Given the description of an element on the screen output the (x, y) to click on. 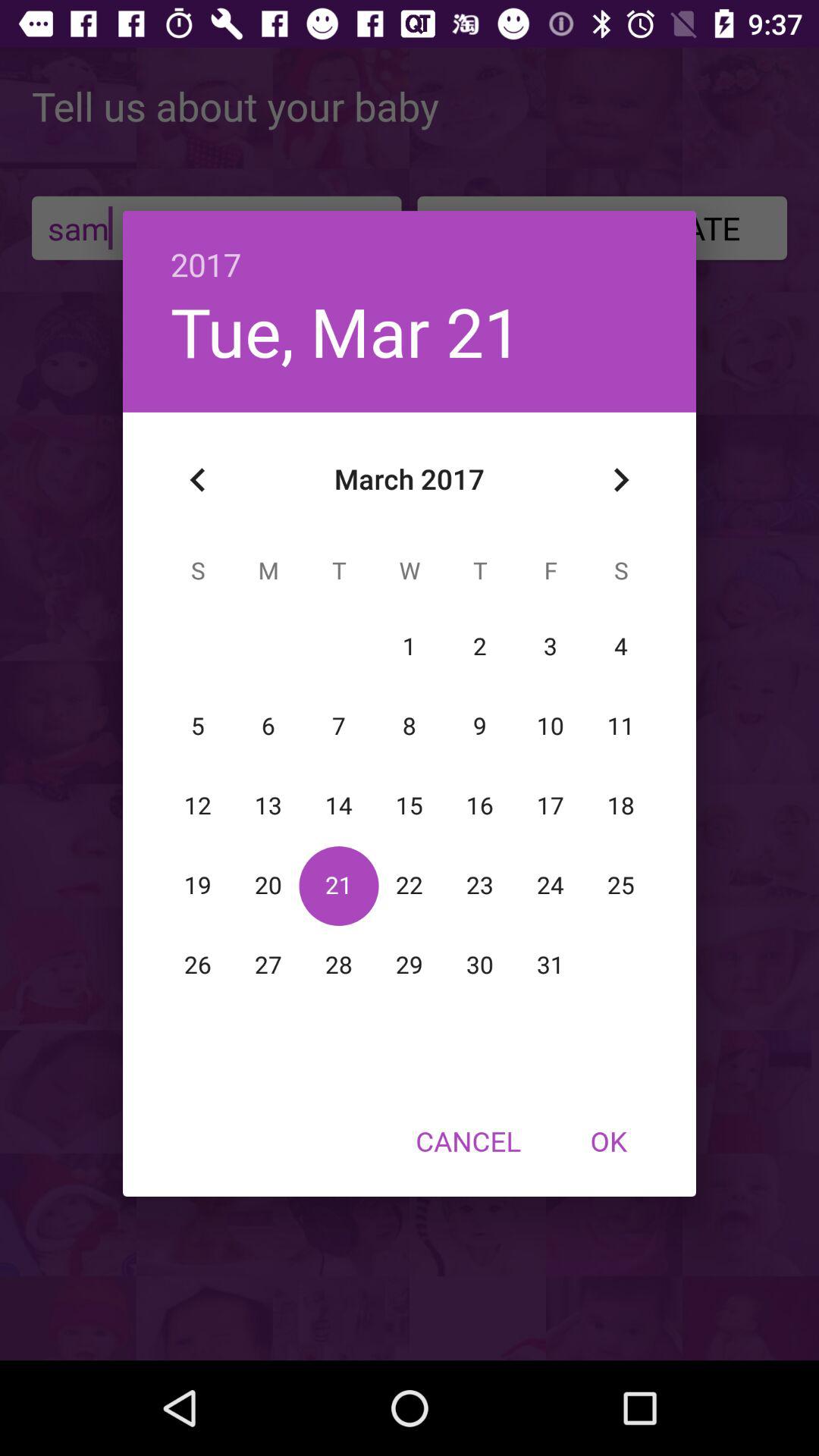
click icon at the bottom right corner (608, 1140)
